Given the description of an element on the screen output the (x, y) to click on. 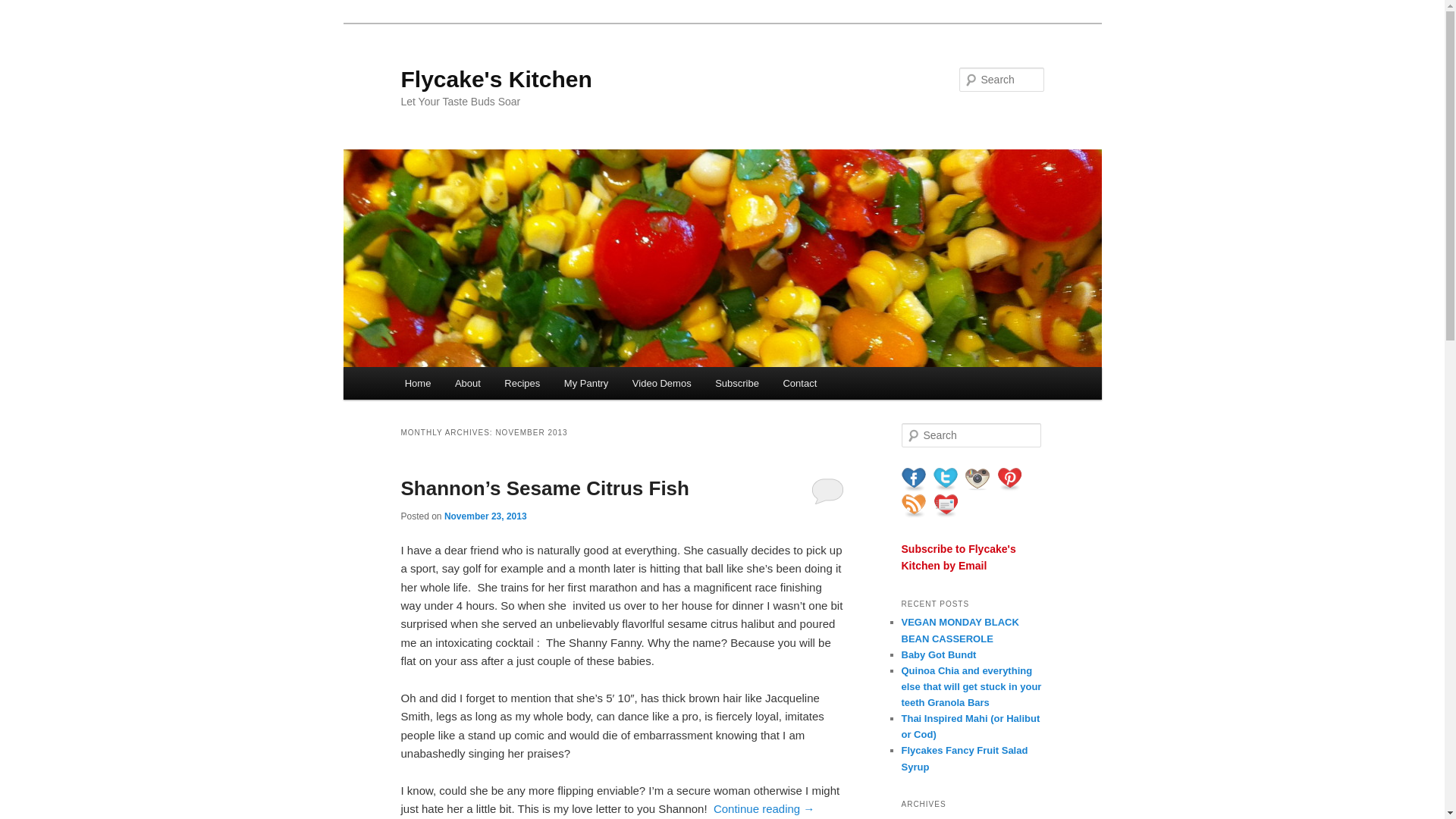
Flycake's Kitchen (495, 78)
Contact (799, 382)
Subscribe (736, 382)
Search (24, 8)
Video Demos (661, 382)
1:44 am (485, 516)
About (467, 382)
My Pantry (585, 382)
November 23, 2013 (485, 516)
